Given the description of an element on the screen output the (x, y) to click on. 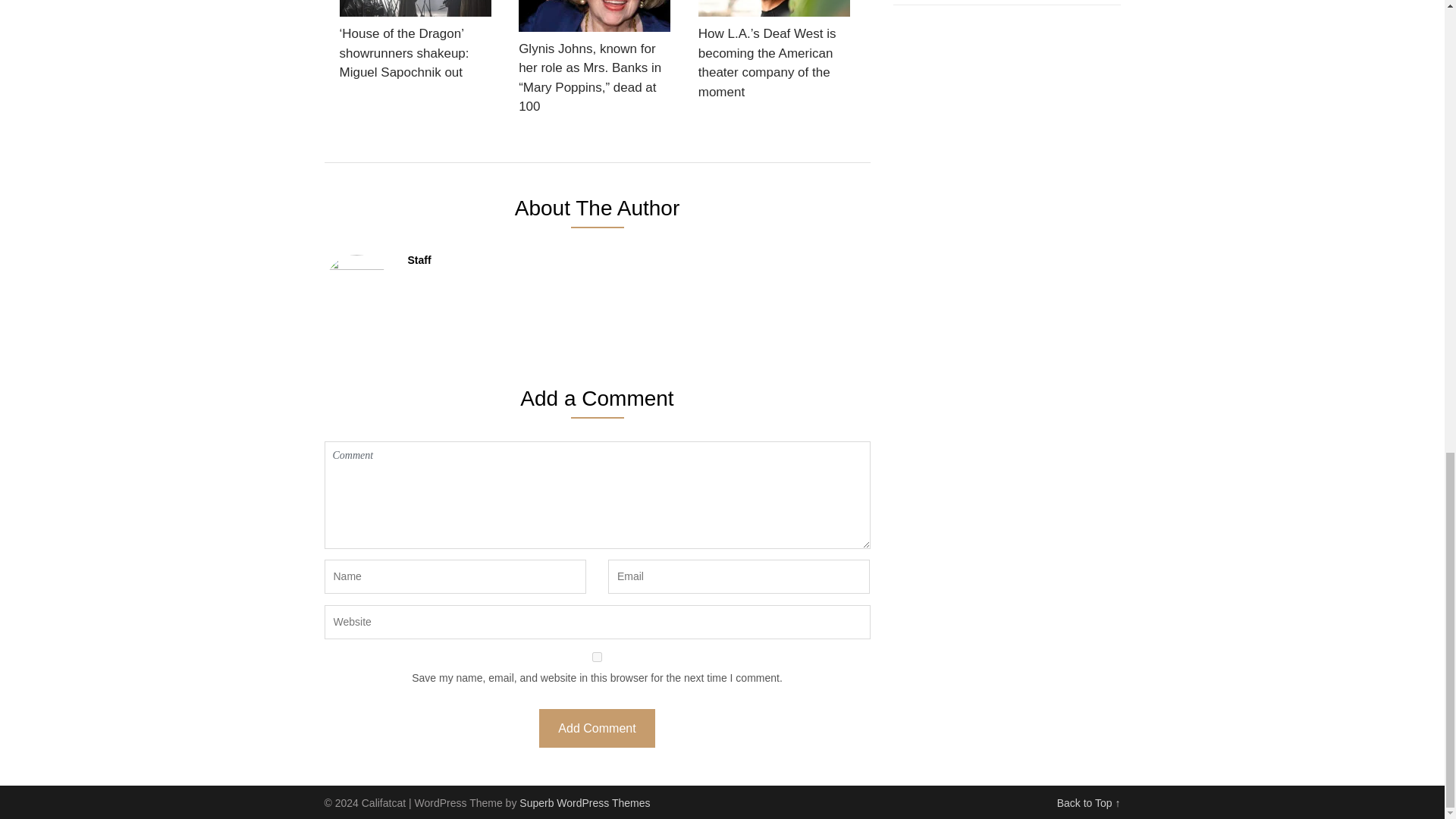
Add Comment (595, 728)
Add Comment (595, 728)
yes (597, 656)
